Given the description of an element on the screen output the (x, y) to click on. 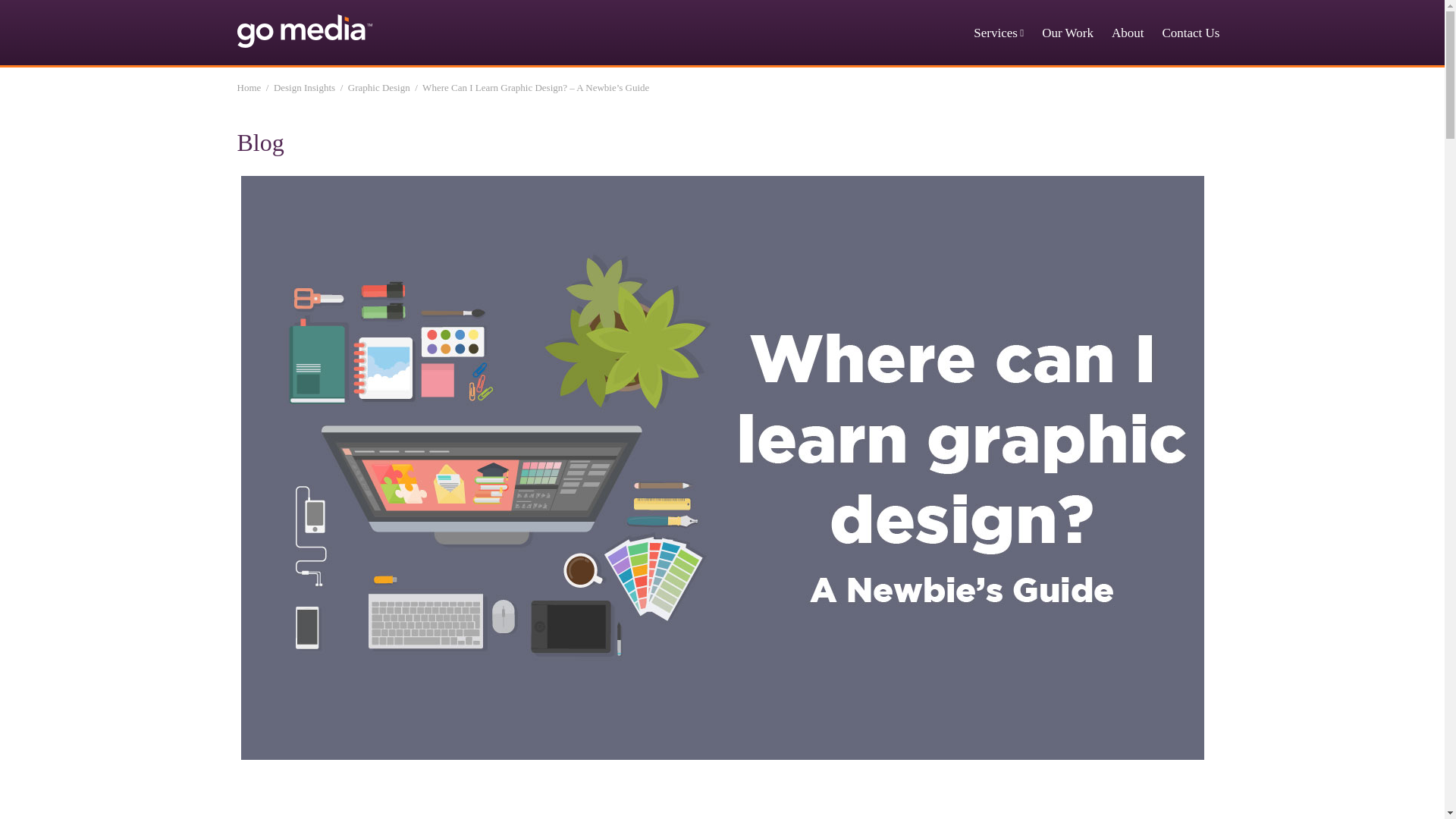
Services (998, 34)
Go to Design Insights. (303, 87)
Go to the Graphic Design category archives. (378, 87)
Home (247, 87)
Our Work (1067, 34)
About (1128, 34)
Graphic Design (378, 87)
Contact Us (1190, 34)
Design Insights (303, 87)
